Given the description of an element on the screen output the (x, y) to click on. 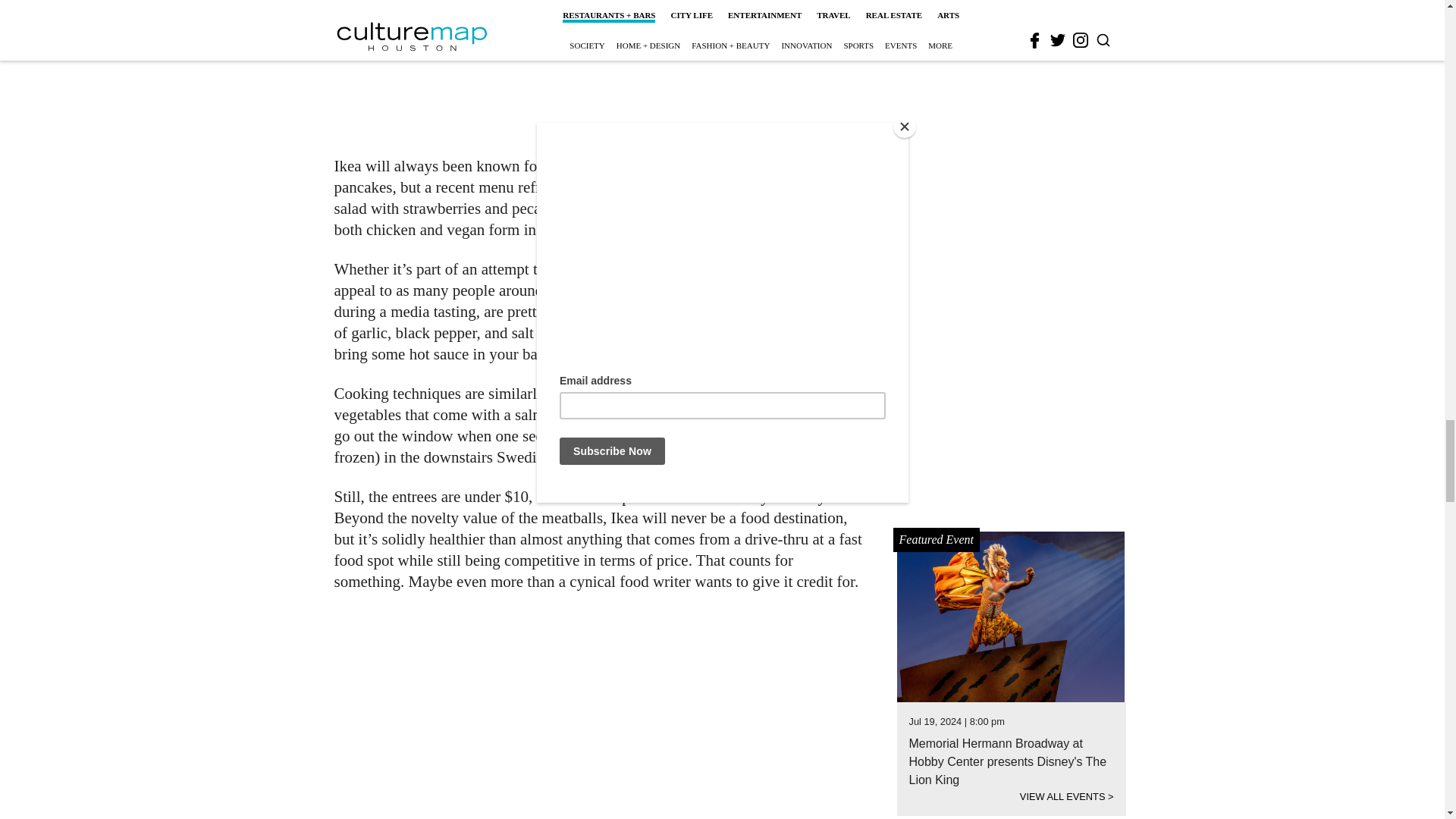
3rd party ad content (600, 68)
